Given the description of an element on the screen output the (x, y) to click on. 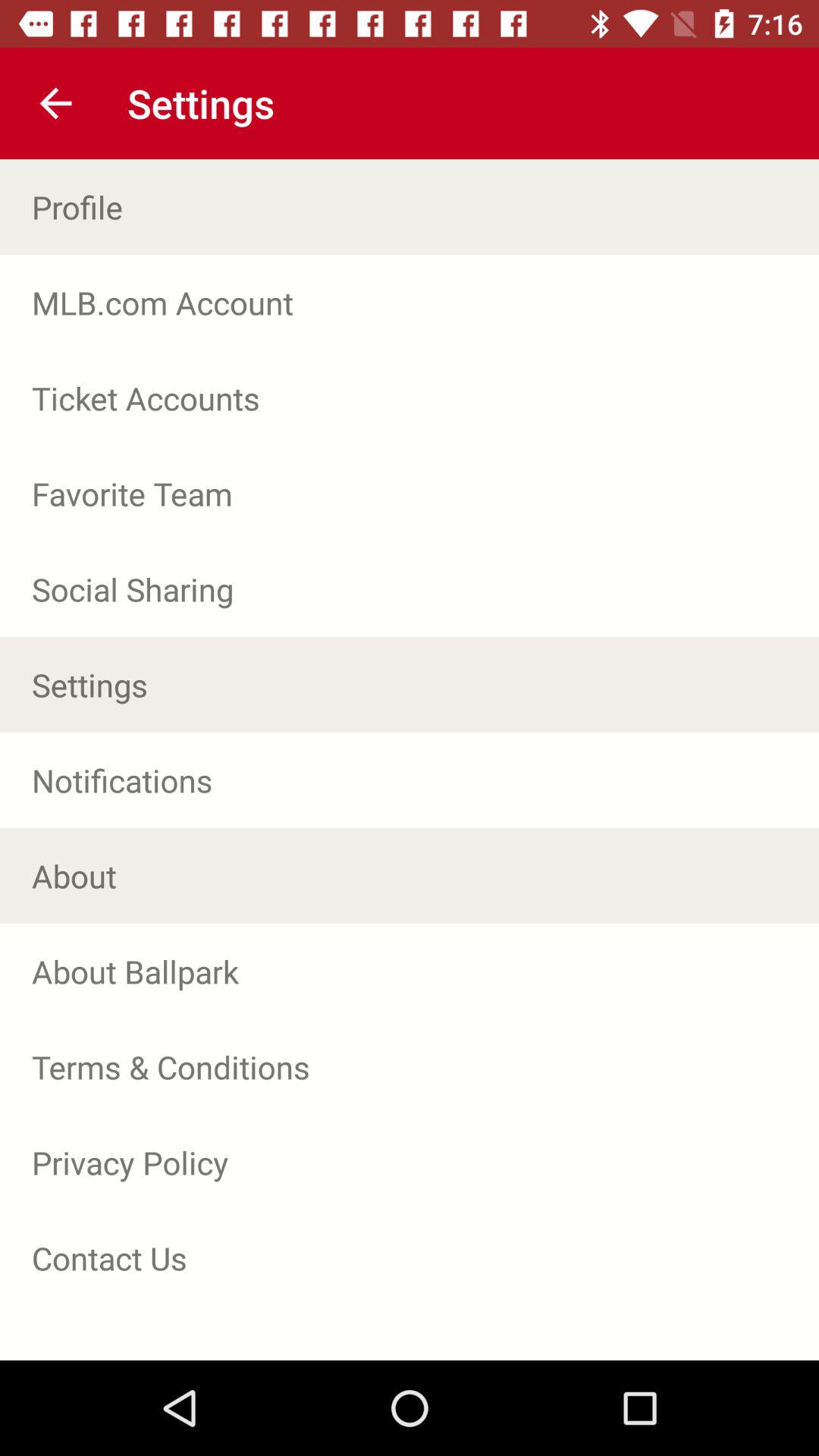
tap the icon to the left of the settings (55, 103)
